Given the description of an element on the screen output the (x, y) to click on. 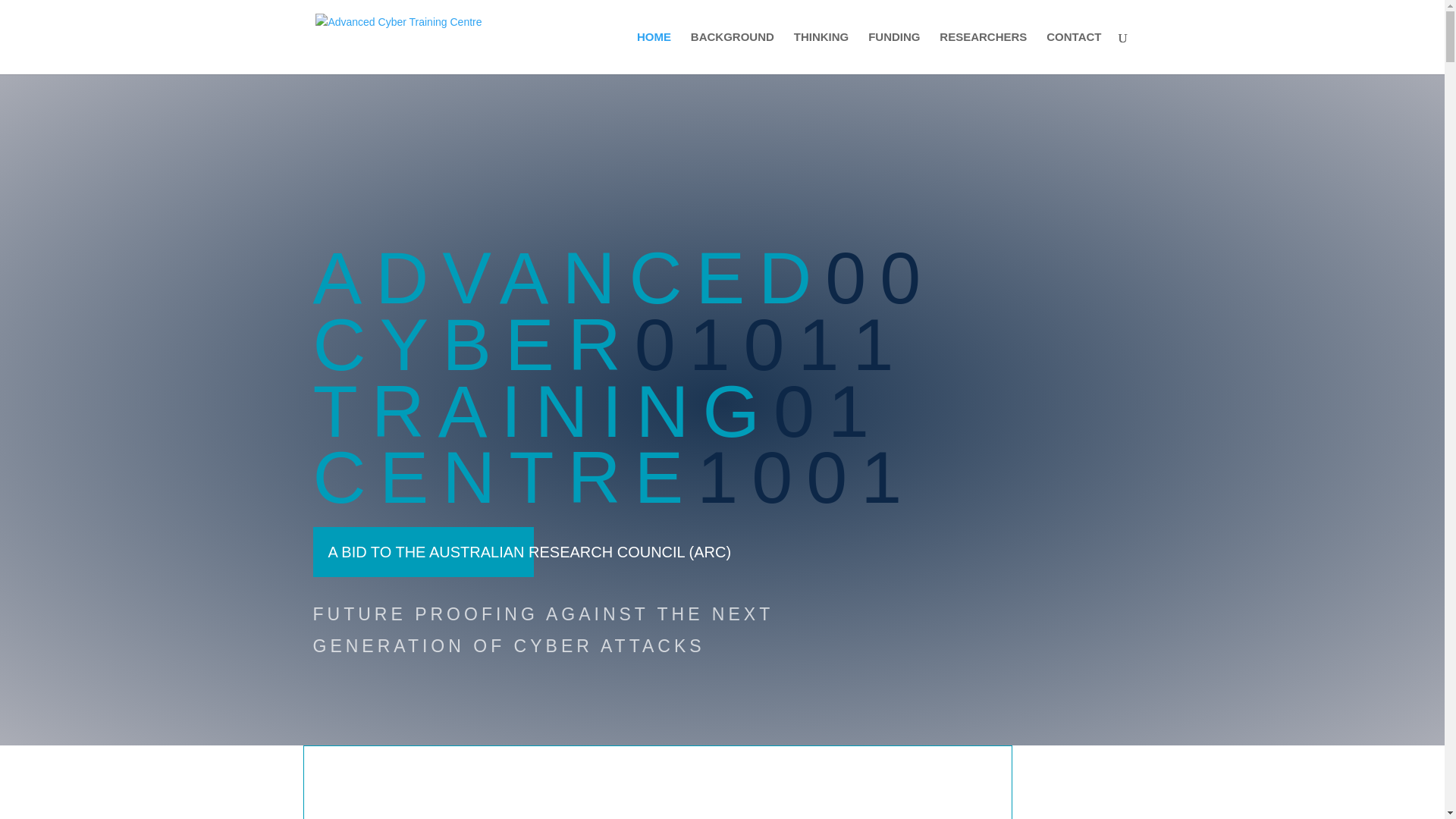
RESEARCHERS (982, 52)
CONTACT (1073, 52)
BACKGROUND (732, 52)
FUNDING (893, 52)
THINKING (820, 52)
